Given the description of an element on the screen output the (x, y) to click on. 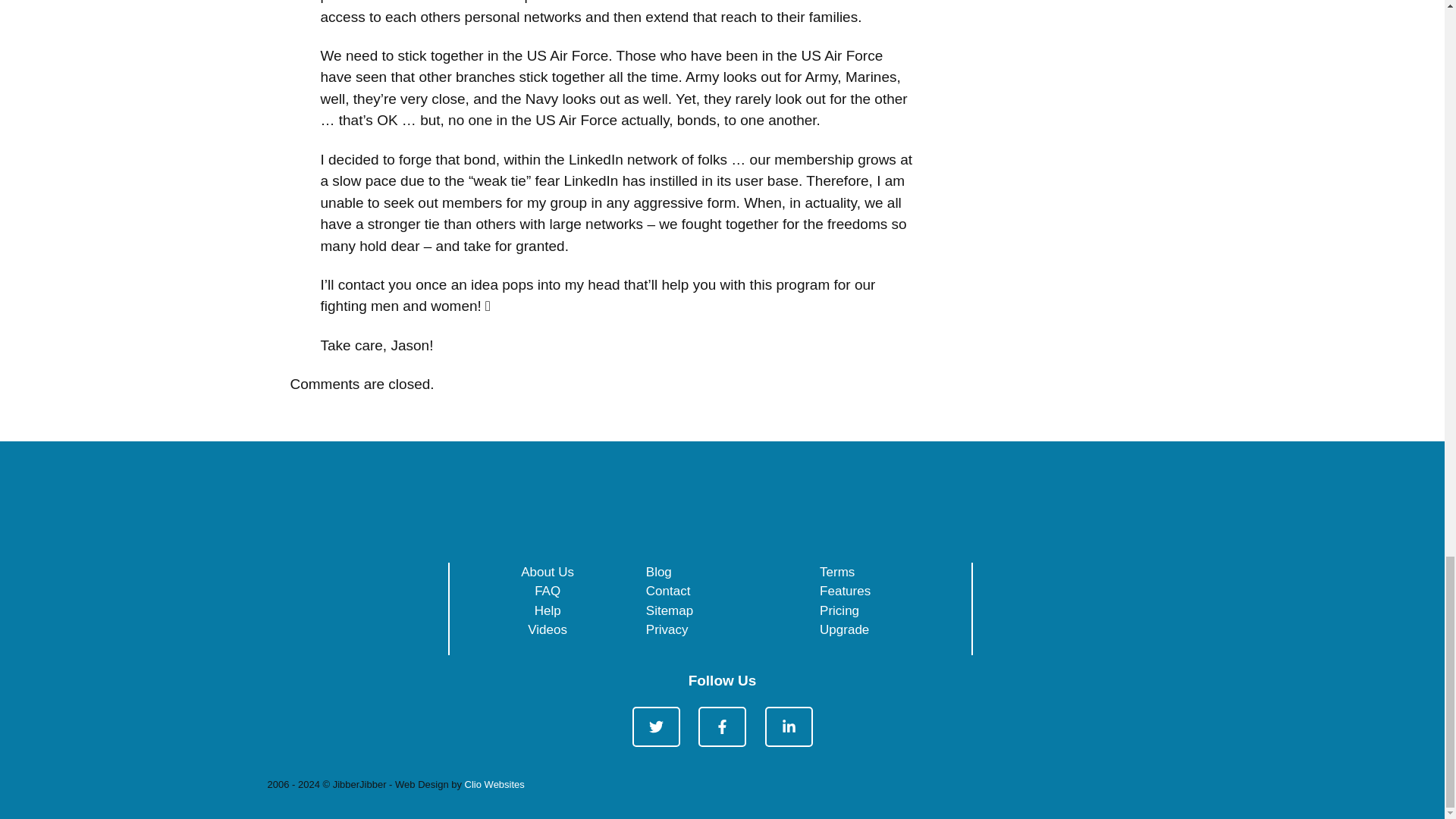
Blog (658, 572)
Contact (668, 590)
Videos (547, 629)
Help (547, 609)
FAQ (547, 590)
About Us (547, 572)
